Given the description of an element on the screen output the (x, y) to click on. 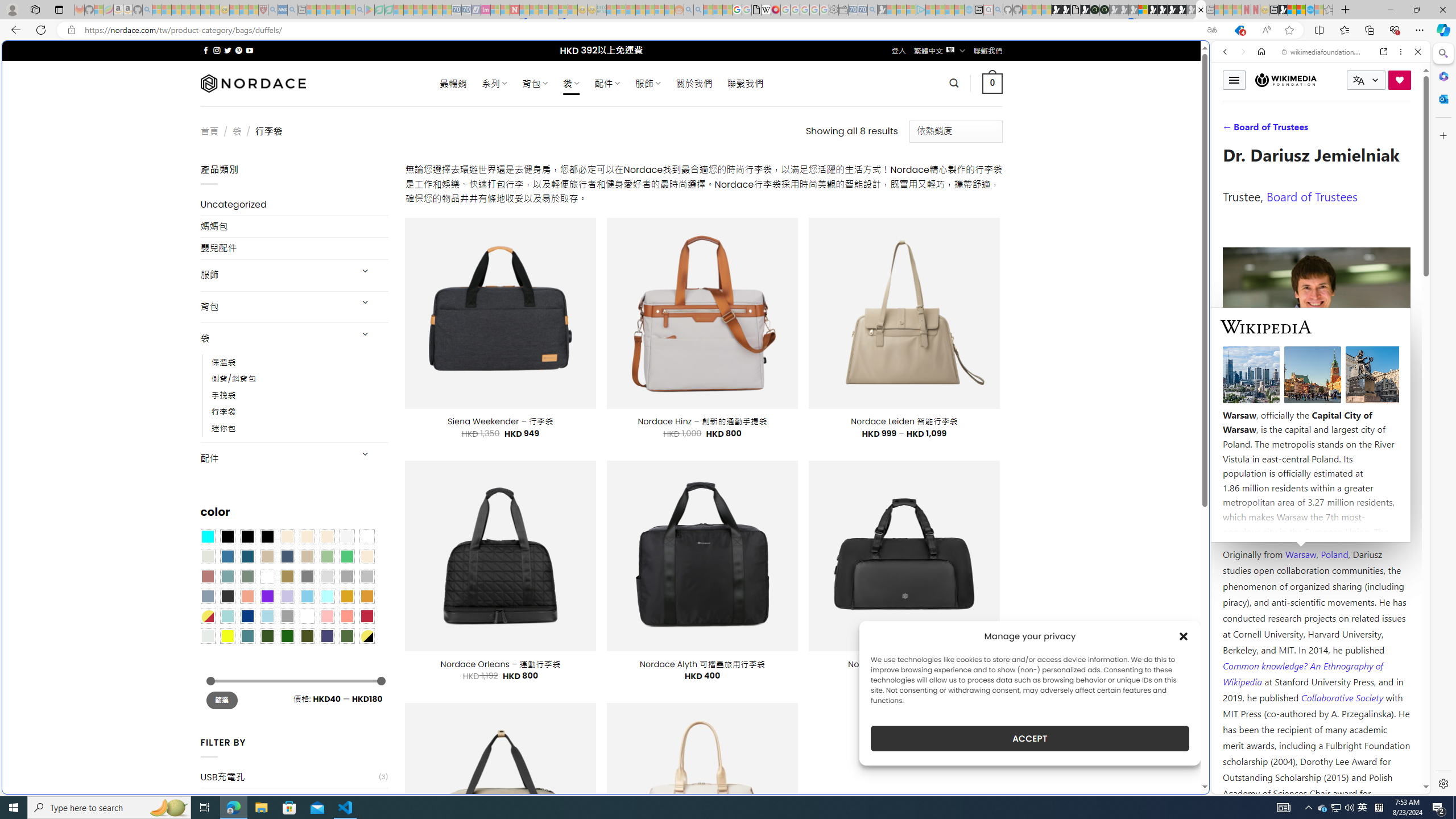
Class: i icon icon-translate language-switcher__icon (1358, 80)
Follow on Facebook (205, 50)
